Given the description of an element on the screen output the (x, y) to click on. 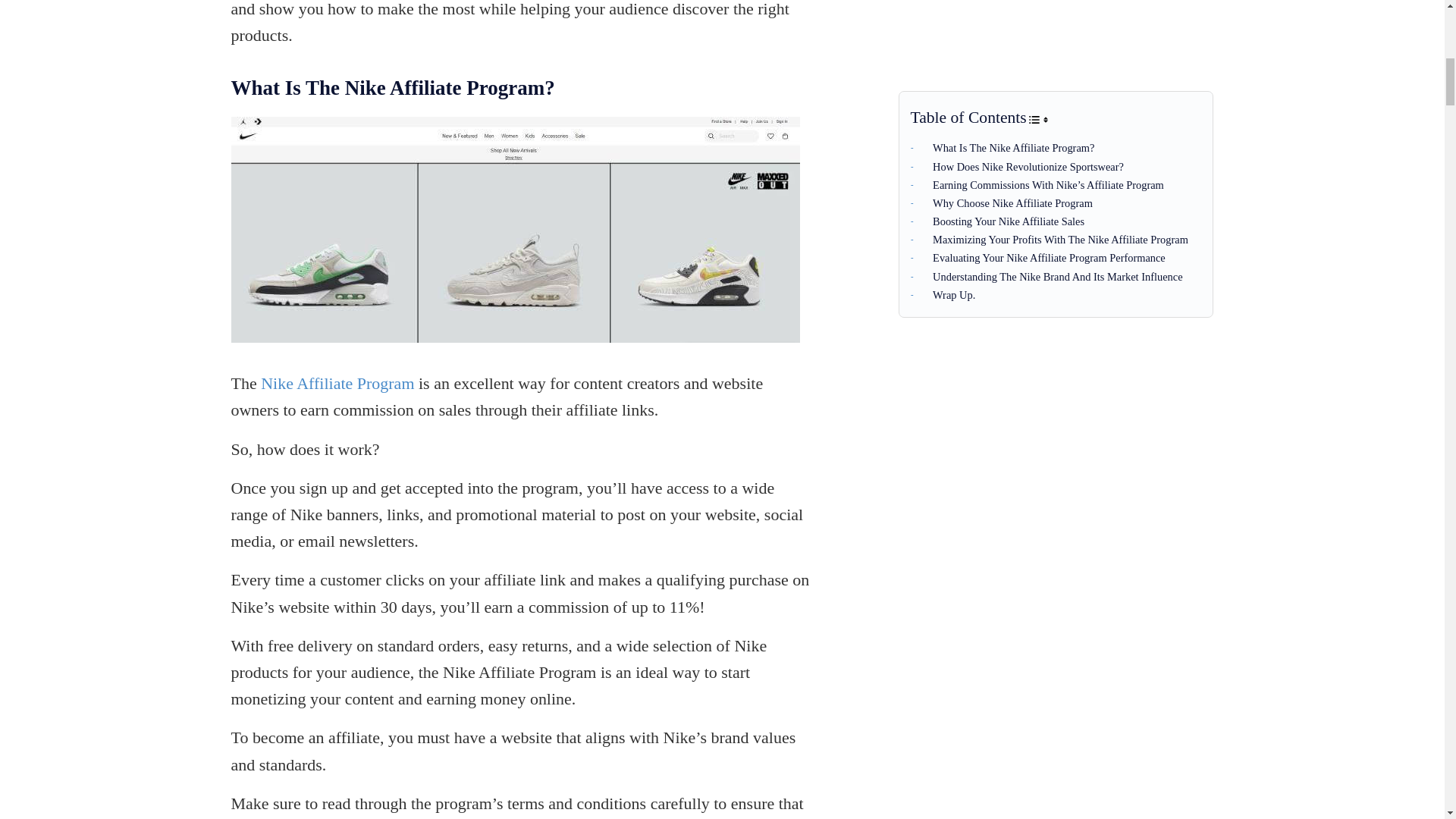
Nike Affiliate Program (336, 383)
Why Choose Nike Affiliate Program (1005, 16)
Maximizing Your Profits With The Nike Affiliate Program (1052, 52)
Wrap Up. (946, 108)
Boosting Your Nike Affiliate Sales (1000, 34)
Understanding The Nike Brand And Its Market Influence (1049, 90)
Evaluating Your Nike Affiliate Program Performance (1041, 70)
